Given the description of an element on the screen output the (x, y) to click on. 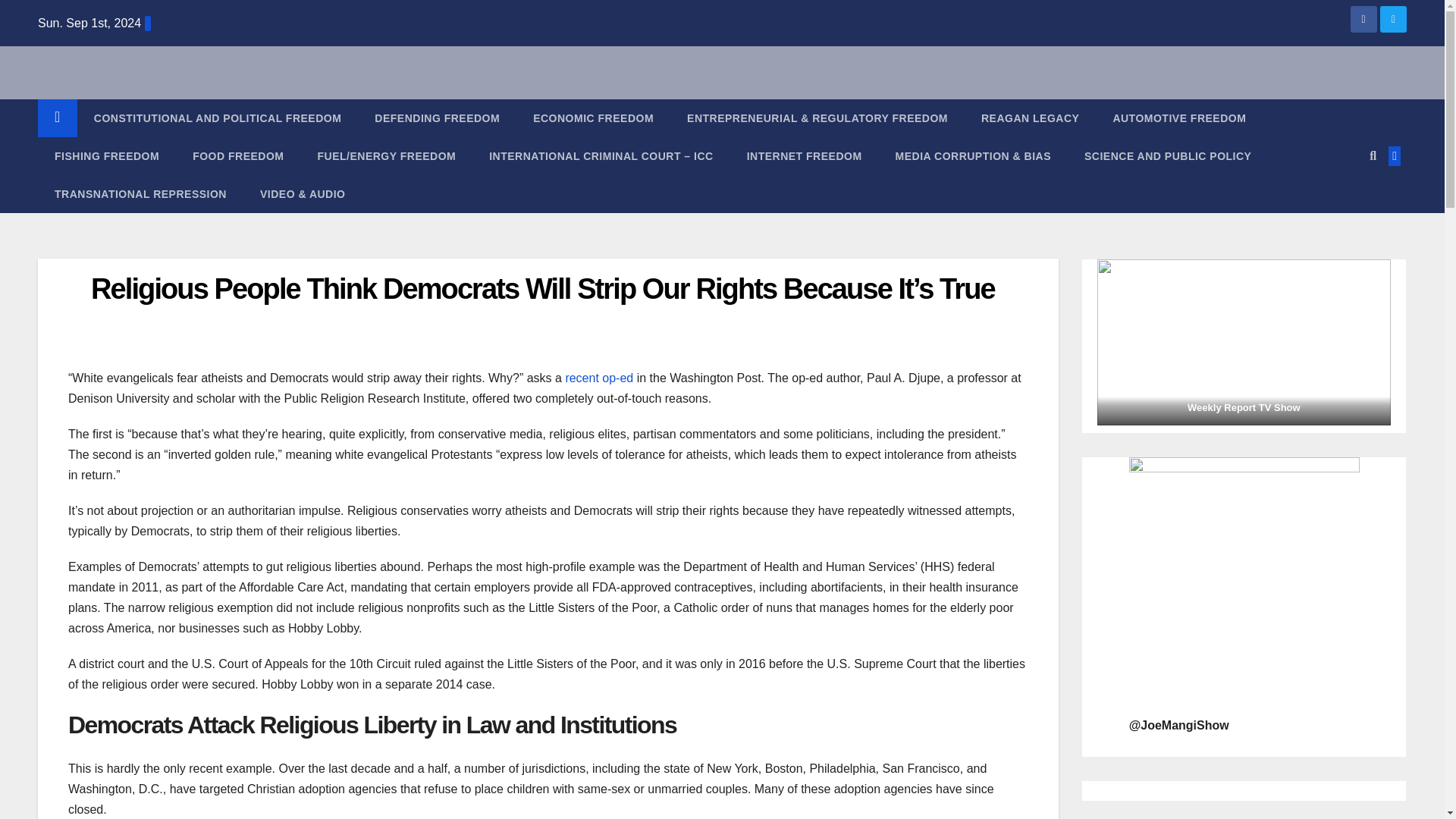
ECONOMIC FREEDOM (592, 118)
recent op-ed (598, 377)
Constitutional and Political Freedom (217, 118)
FISHING FREEDOM (106, 156)
Transnational Repression (140, 193)
DEFENDING FREEDOM (437, 118)
Fishing Freedom (106, 156)
Automotive Freedom (1179, 118)
Defending Freedom (437, 118)
Economic Freedom (592, 118)
